Given the description of an element on the screen output the (x, y) to click on. 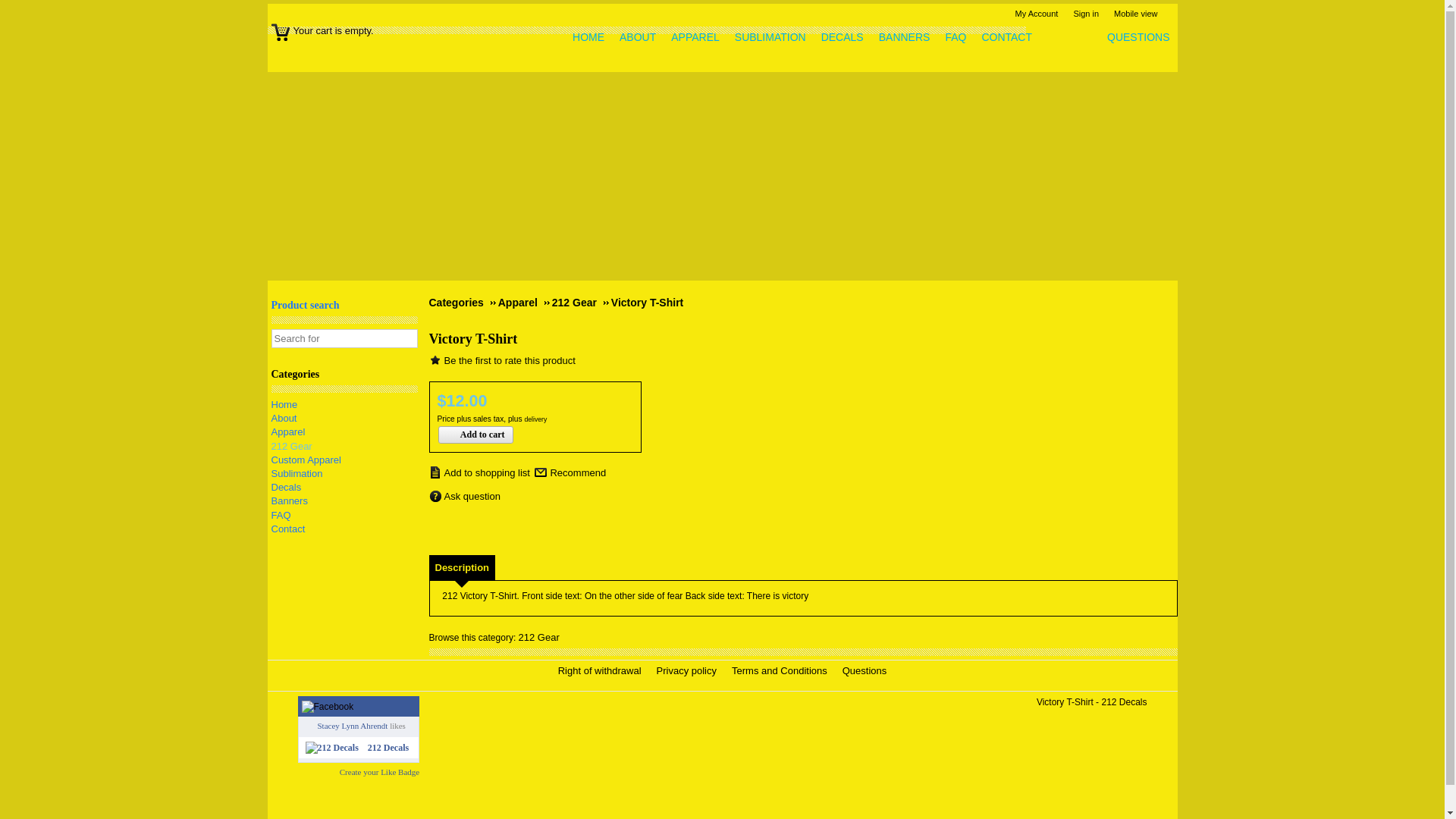
Stacey Lynn Ahrendt Element type: text (351, 725)
My Account Element type: text (1040, 13)
CONTACT Element type: text (1010, 37)
Create your Like Badge Element type: text (379, 771)
212 Decals Element type: text (387, 747)
Home Element type: text (284, 404)
Be the first to rate this product Element type: text (502, 361)
212 Gear Element type: text (291, 445)
212 Gear Element type: text (580, 302)
HOME Element type: text (591, 37)
Decals Element type: text (286, 486)
BANNERS Element type: text (908, 37)
Banners Element type: text (289, 500)
Home Element type: hover (1170, 13)
Start search Element type: hover (403, 338)
Apparel Element type: text (523, 302)
Contact Element type: text (288, 528)
Description Element type: text (462, 567)
QUESTIONS Element type: text (1141, 37)
Mobile view Element type: text (1138, 13)
Categories Element type: text (344, 381)
Apparel Element type: text (288, 431)
Sublimation Element type: text (297, 473)
Ask question Element type: text (464, 496)
DECALS Element type: text (846, 37)
Add to shopping list Element type: text (479, 472)
Recommend Element type: text (569, 473)
FAQ Element type: text (958, 37)
212 Decals Element type: hover (330, 746)
APPAREL Element type: text (699, 37)
Terms and Conditions Element type: text (782, 670)
Right of withdrawal Element type: text (603, 670)
delivery Element type: text (535, 419)
Sign in Element type: text (1089, 13)
Categories Element type: text (462, 302)
Custom Apparel Element type: text (306, 459)
Privacy policy Element type: text (690, 670)
About Element type: text (284, 417)
Add to cart Element type: text (475, 434)
FAQ Element type: text (281, 514)
ABOUT Element type: text (641, 37)
SUBLIMATION Element type: text (773, 37)
212 Gear Element type: text (538, 637)
Questions Element type: text (868, 670)
